Given the description of an element on the screen output the (x, y) to click on. 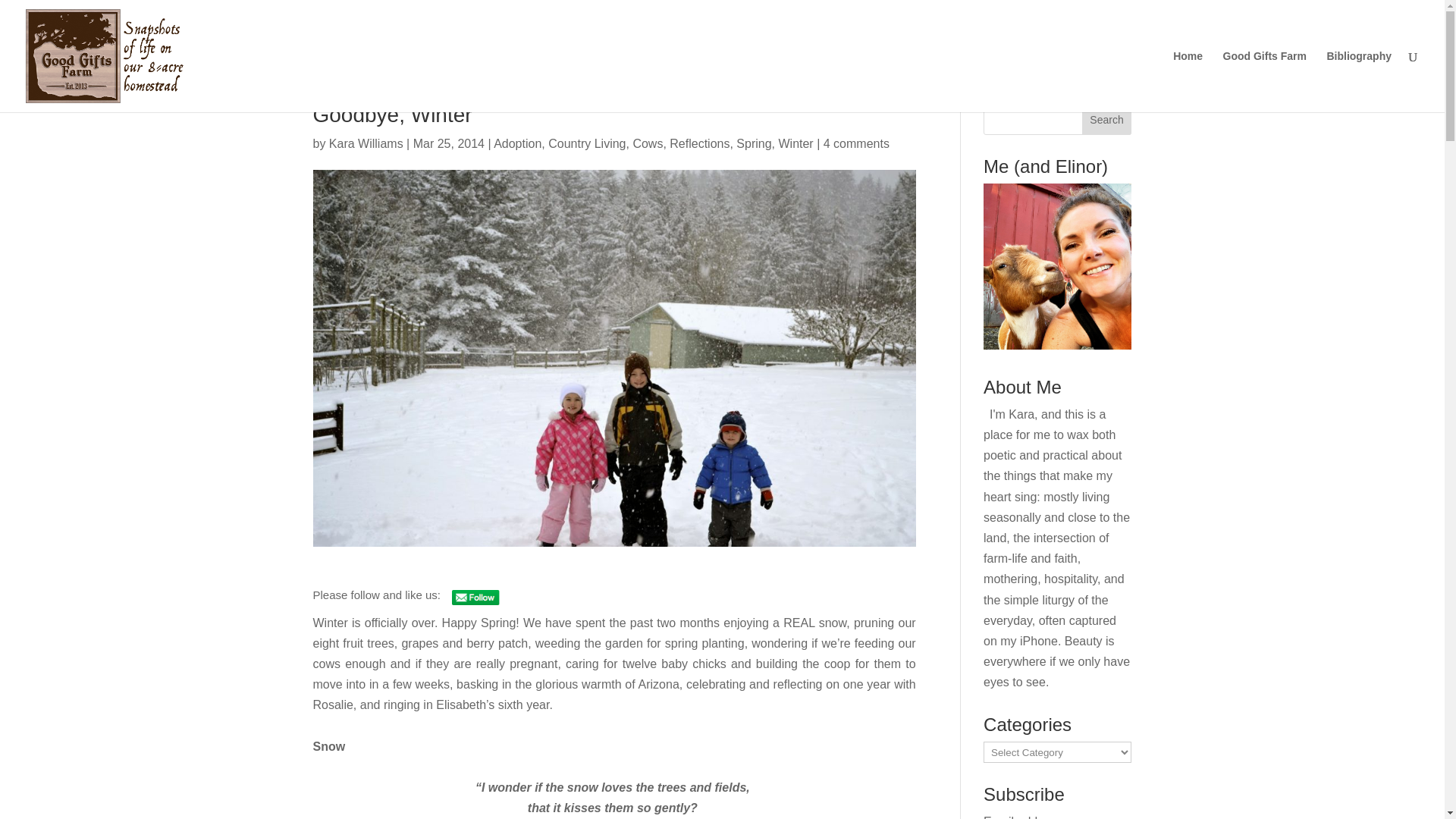
Adoption (517, 143)
4 comments (856, 143)
Reflections (699, 143)
Good Gifts Farm (1264, 81)
Search (1106, 119)
Bibliography (1358, 81)
Spring (753, 143)
Posts by Kara Williams (366, 143)
Winter (794, 143)
Kara Williams (366, 143)
